Given the description of an element on the screen output the (x, y) to click on. 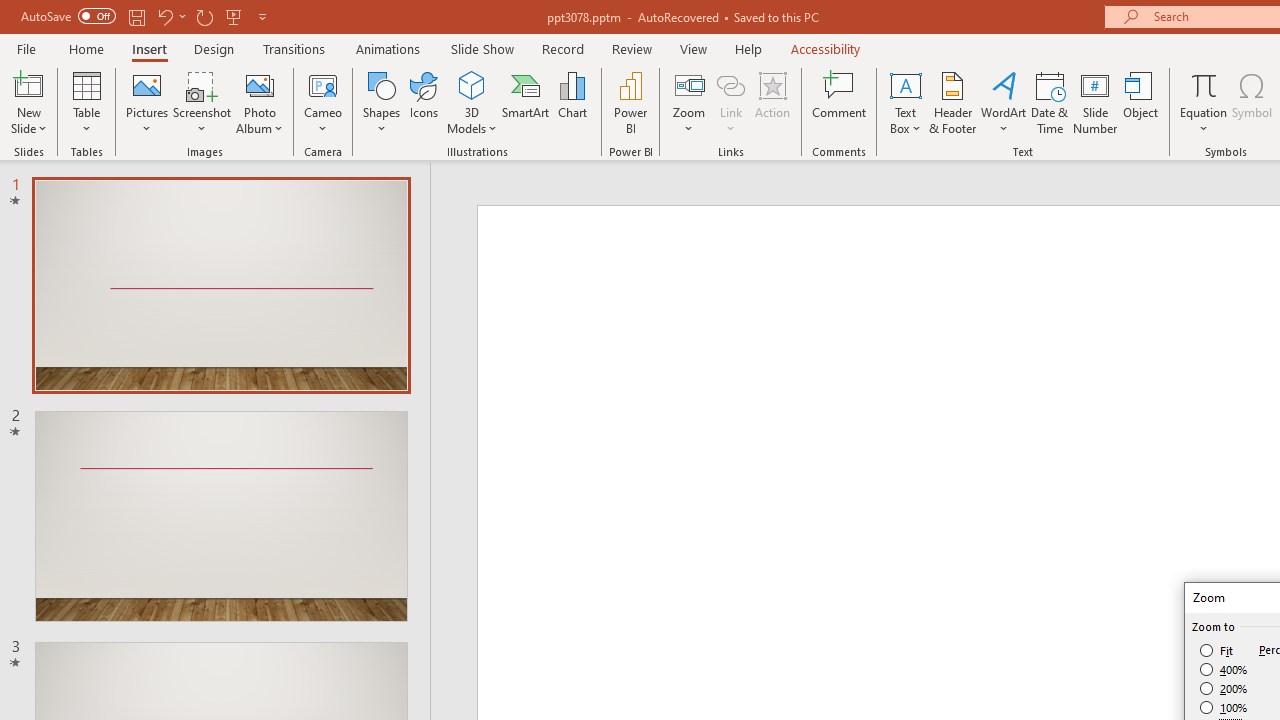
Screenshot (202, 102)
Photo Album... (259, 102)
New Photo Album... (259, 84)
Action (772, 102)
Link (731, 102)
Shapes (381, 102)
Header & Footer... (952, 102)
